Given the description of an element on the screen output the (x, y) to click on. 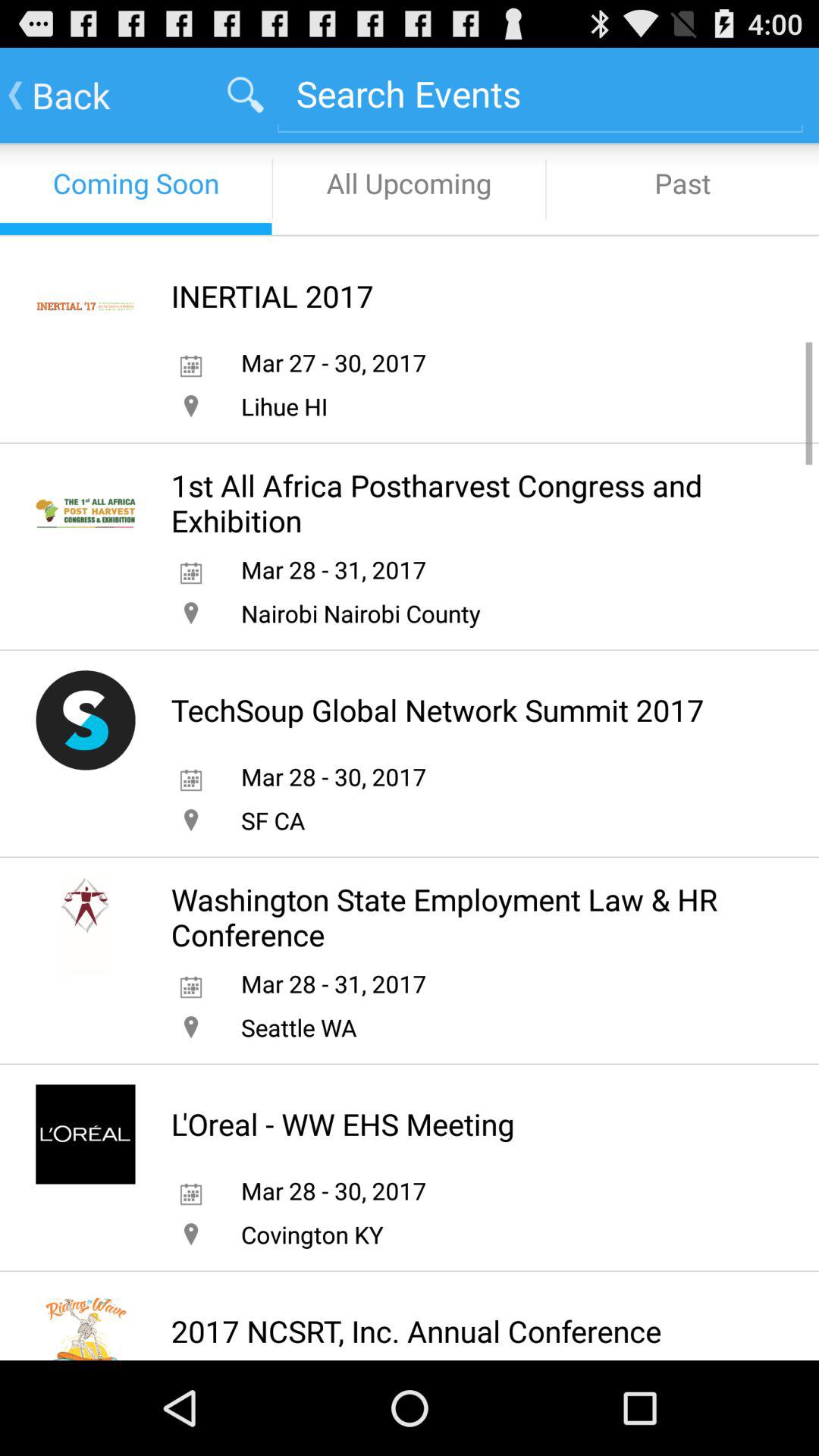
click the app above techsoup global network (360, 613)
